Given the description of an element on the screen output the (x, y) to click on. 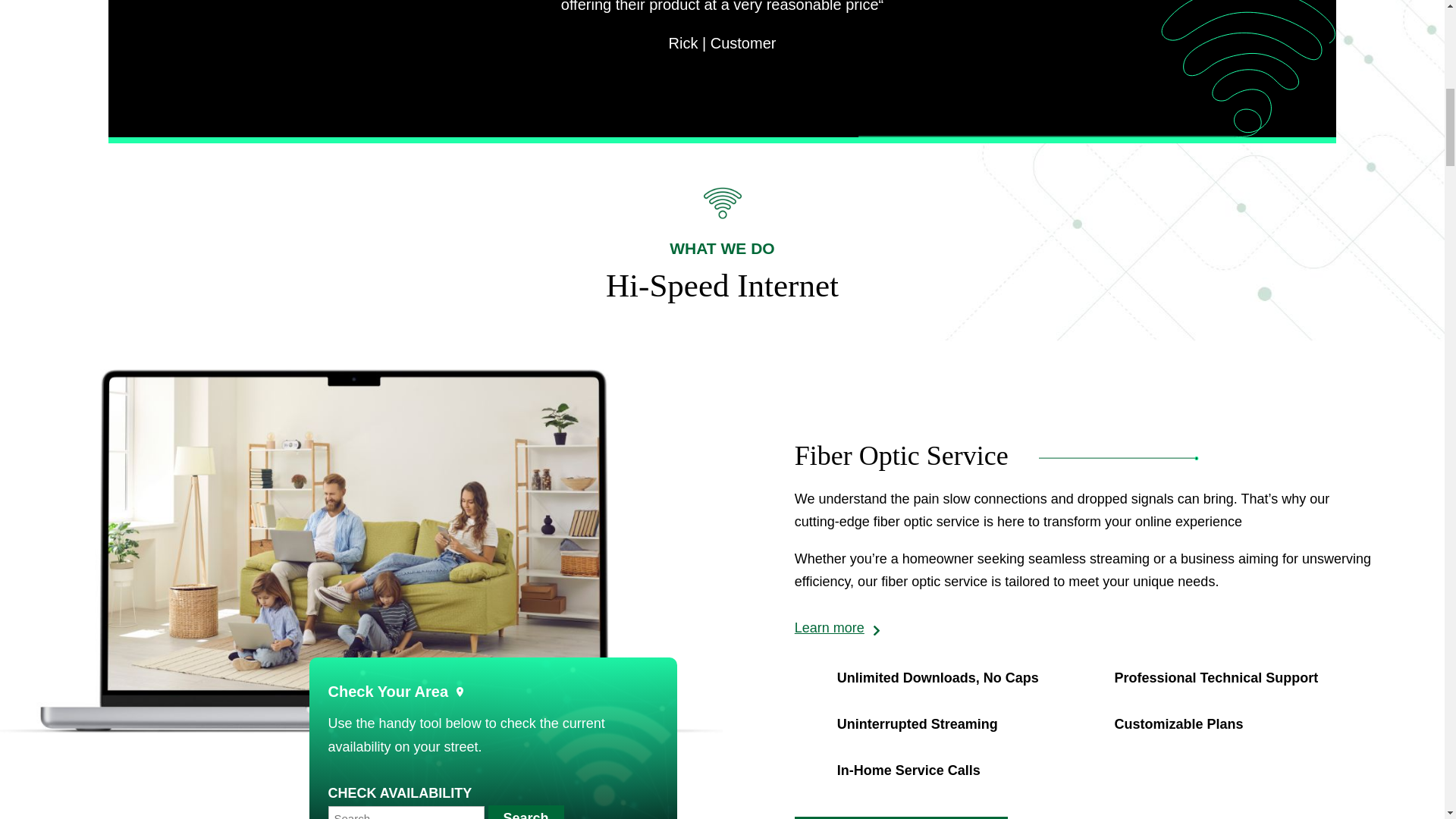
Learn more (836, 627)
REQUEST INSTALLATION (900, 817)
ico-wifi (722, 202)
Search (525, 812)
